Given the description of an element on the screen output the (x, y) to click on. 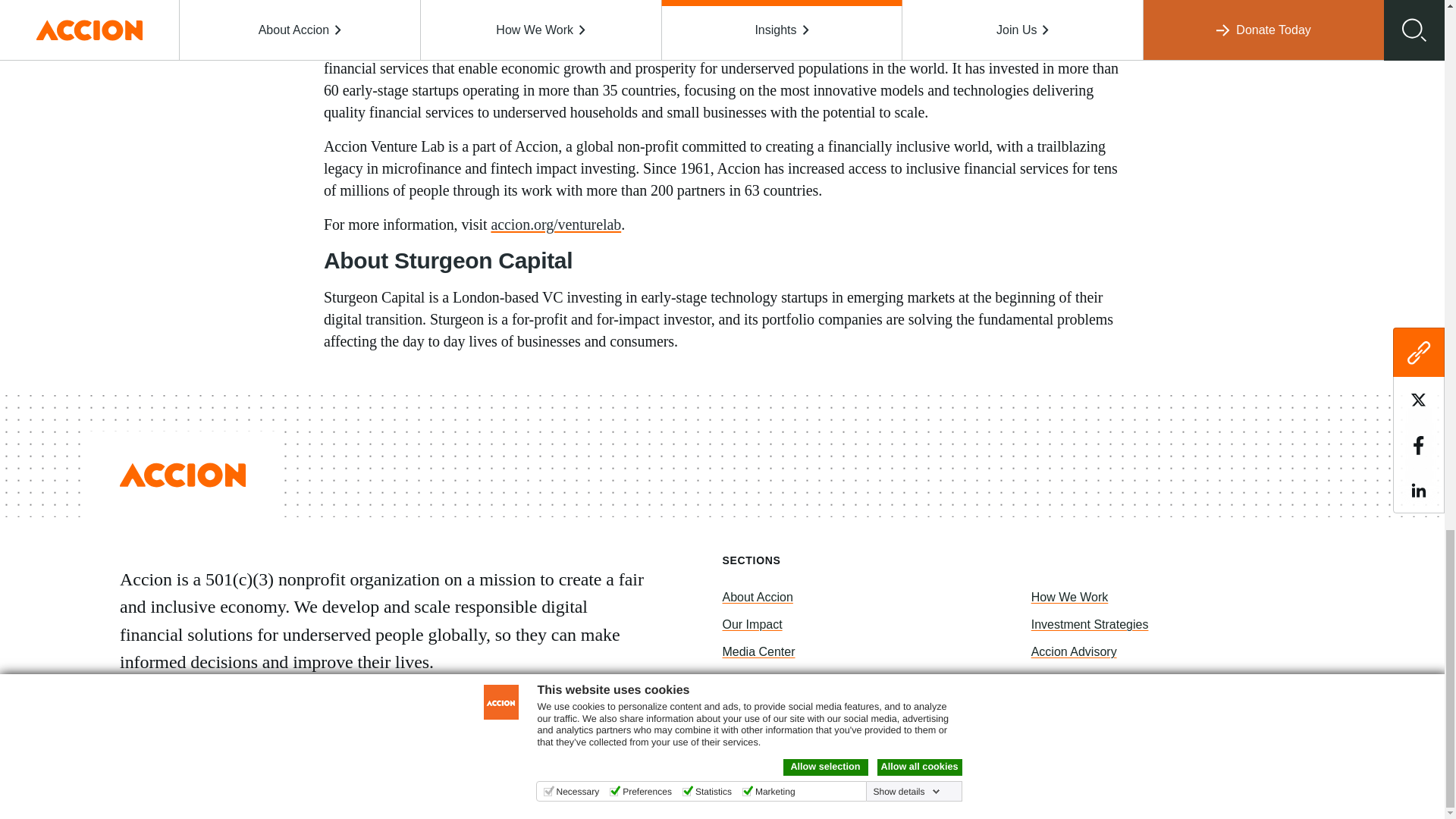
Twitter X (223, 785)
LinkedIn (259, 785)
Accion (182, 474)
YouTube (331, 785)
Instagram (295, 785)
Facebook (187, 785)
